Given the description of an element on the screen output the (x, y) to click on. 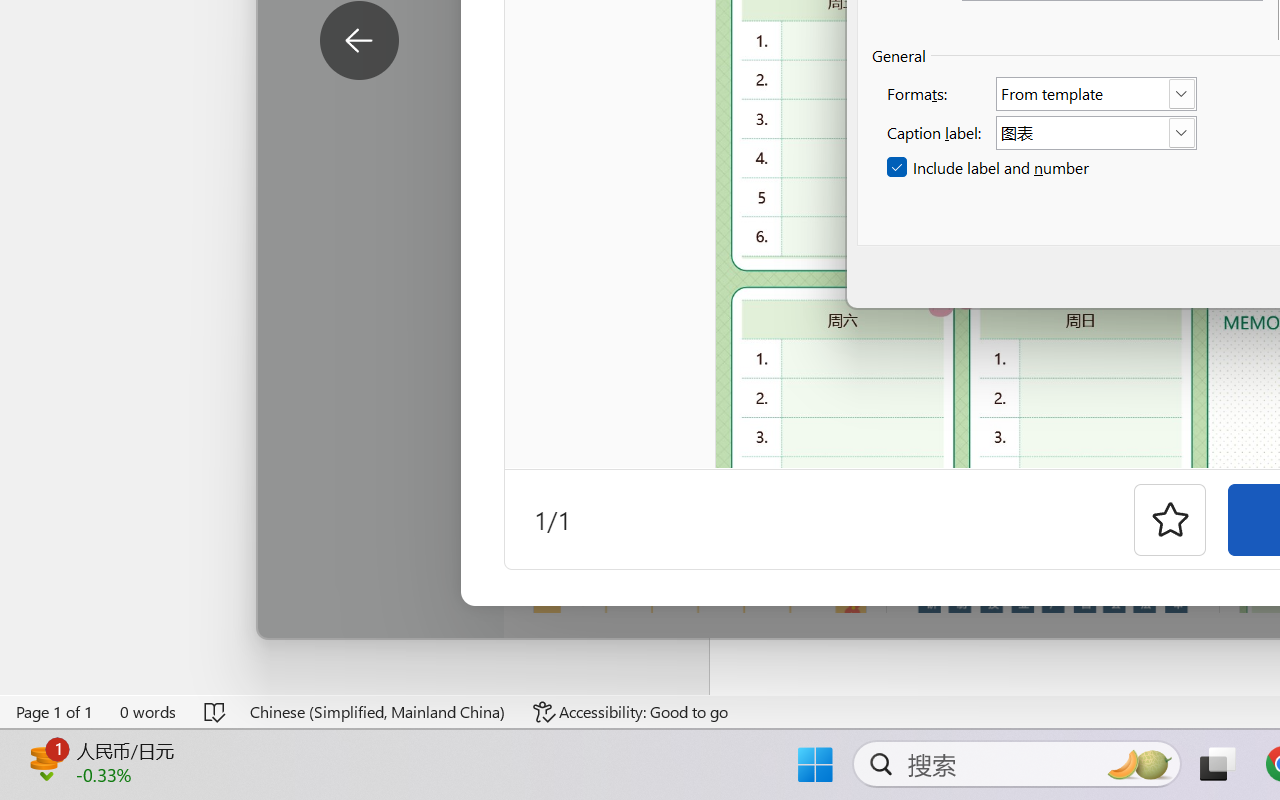
Language Chinese (Simplified, Mainland China) (378, 712)
Include label and number (990, 167)
Formats: (1095, 93)
Caption label: (1095, 132)
